Given the description of an element on the screen output the (x, y) to click on. 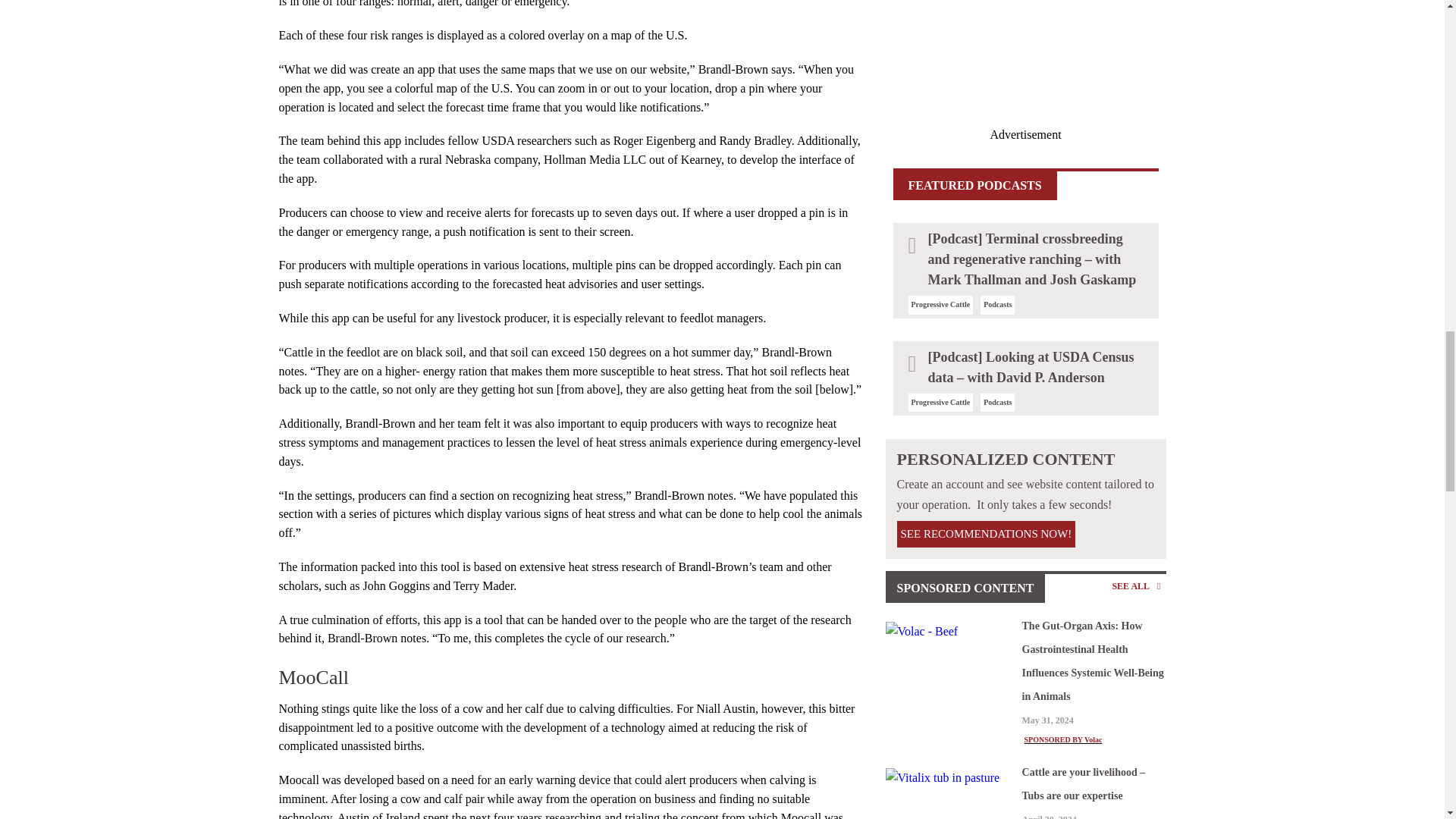
volac-beef-main.jpg (949, 631)
Progressive Cattle (941, 304)
vitalix-sc-pc-may-2024.jpg (949, 777)
Progressive Cattle (941, 402)
Podcasts (997, 304)
